Given the description of an element on the screen output the (x, y) to click on. 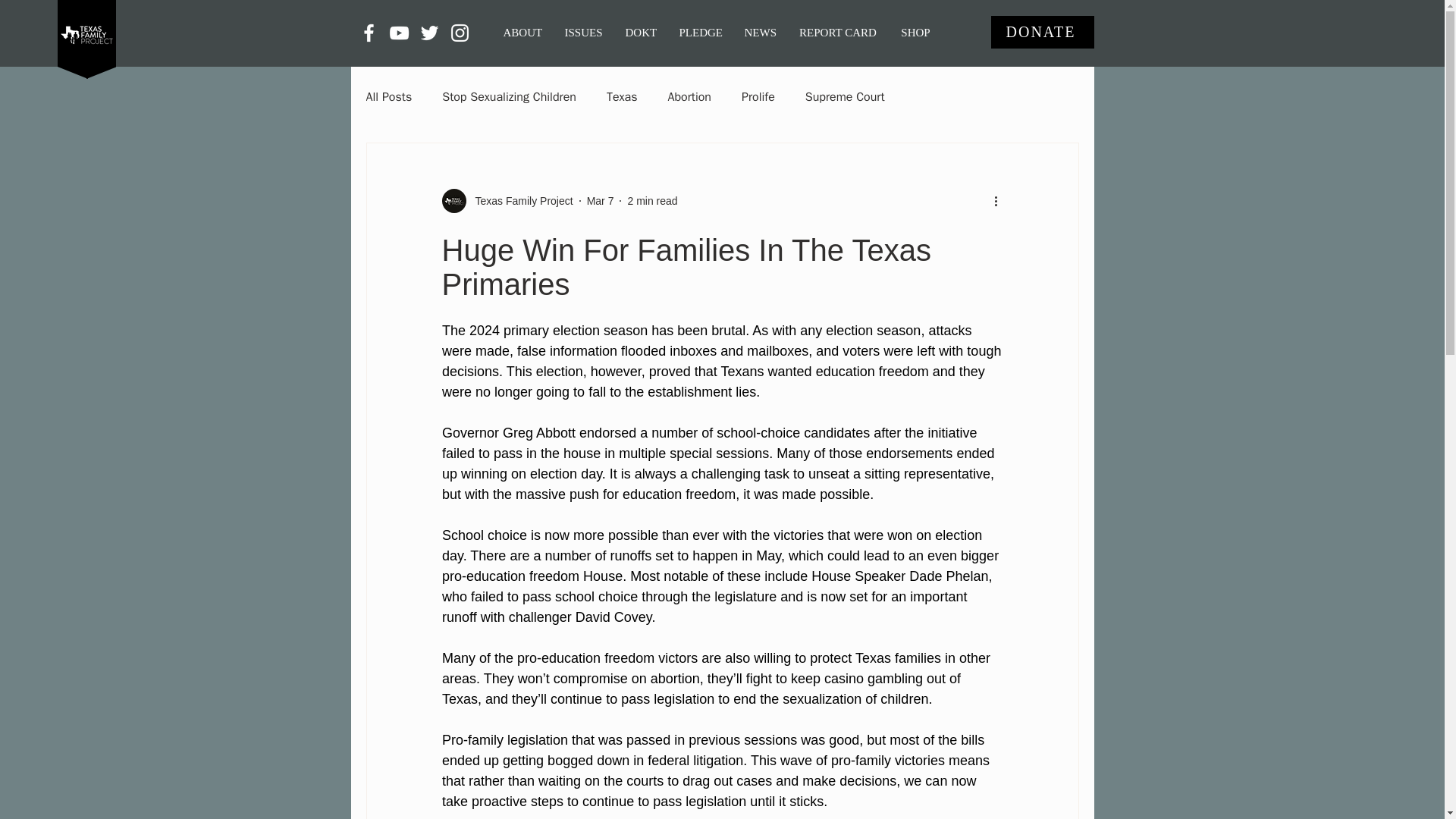
Prolife (757, 97)
Mar 7 (600, 200)
DOKT (641, 32)
ISSUES (583, 32)
PLEDGE (699, 32)
All Posts (388, 97)
Abortion (688, 97)
REPORT CARD (837, 32)
Supreme Court (845, 97)
DONATE (1041, 31)
